Given the description of an element on the screen output the (x, y) to click on. 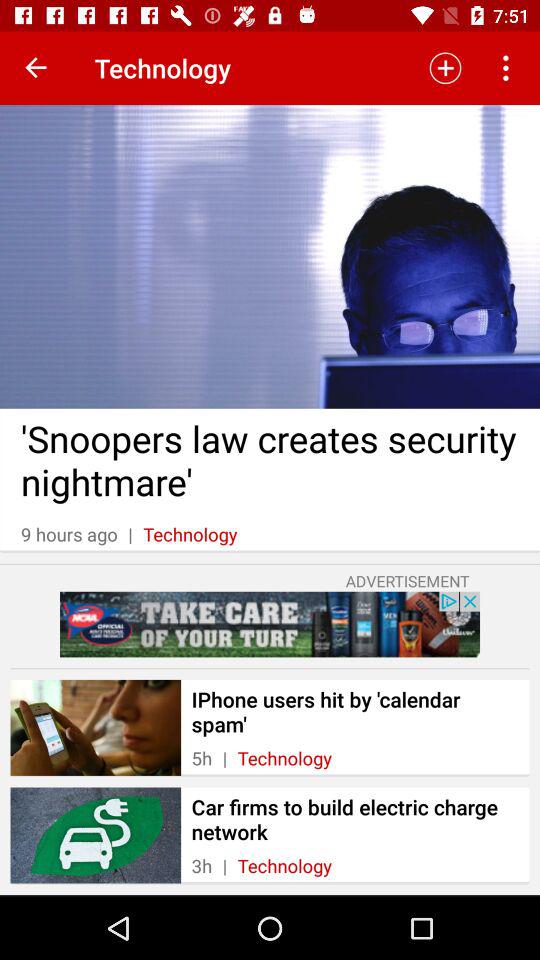
go to advertainment (270, 624)
